Given the description of an element on the screen output the (x, y) to click on. 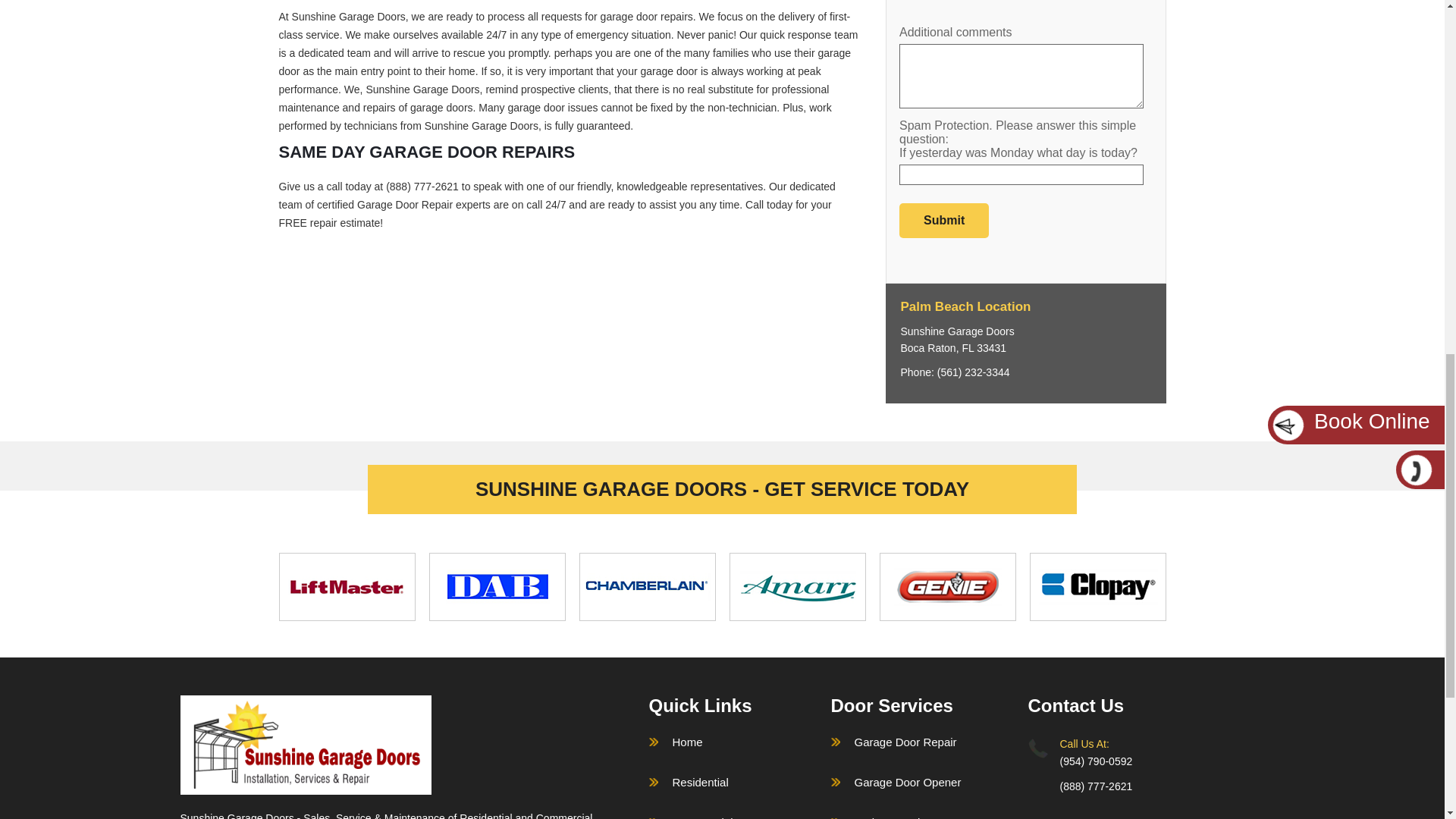
embedded form (1024, 122)
